Given the description of an element on the screen output the (x, y) to click on. 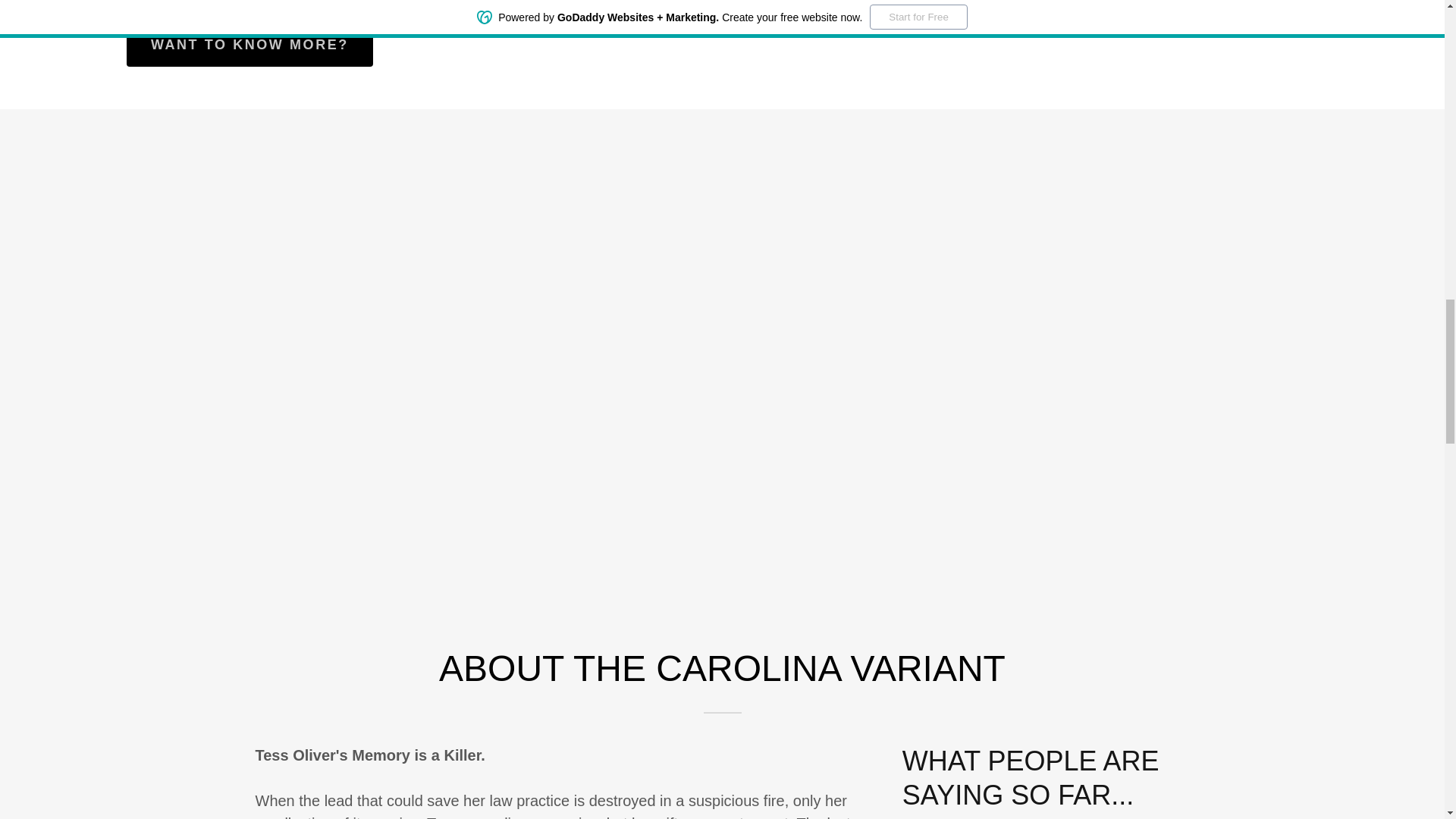
WANT TO KNOW MORE? (249, 45)
